Given the description of an element on the screen output the (x, y) to click on. 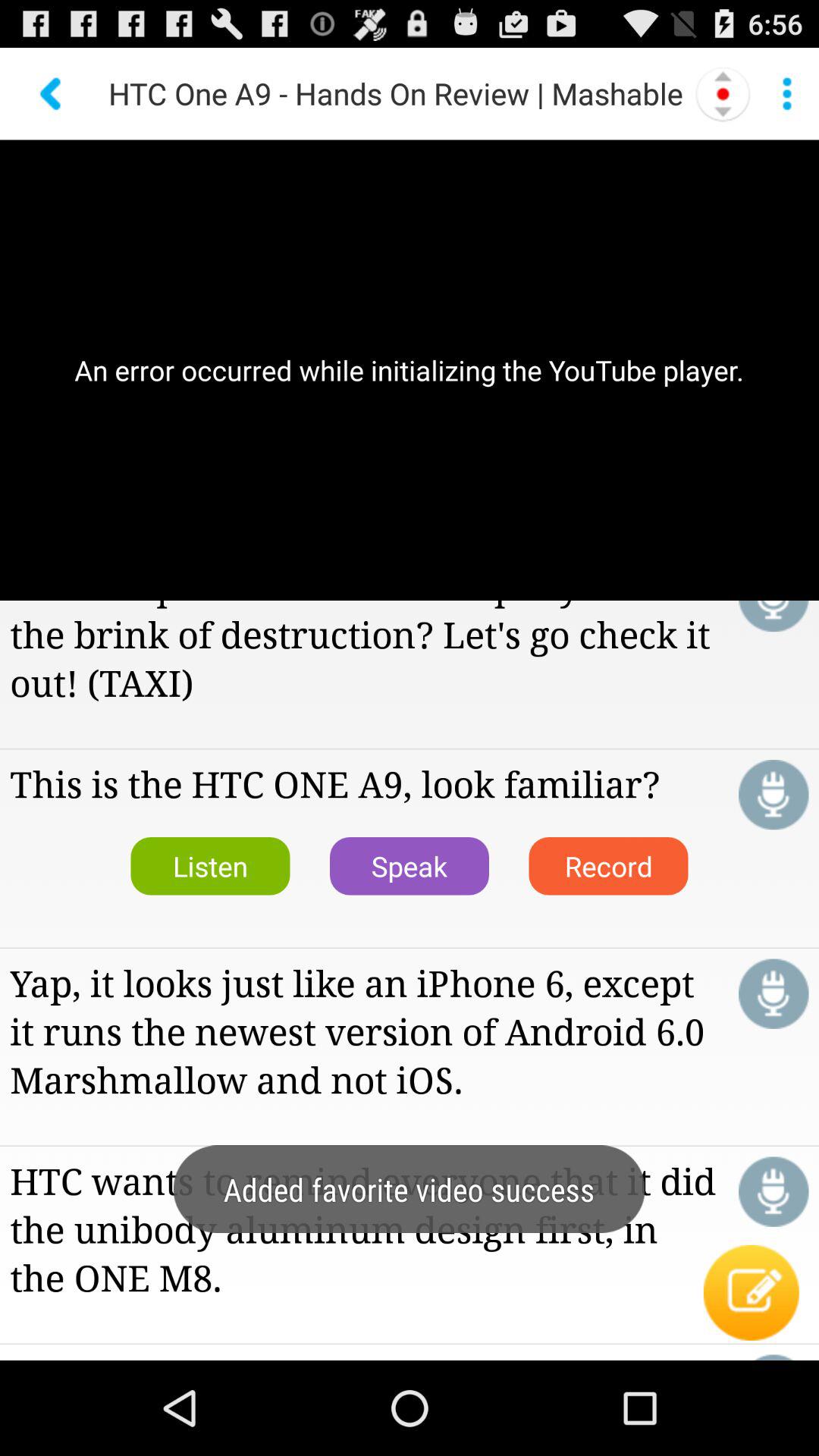
add favorite (773, 794)
